Given the description of an element on the screen output the (x, y) to click on. 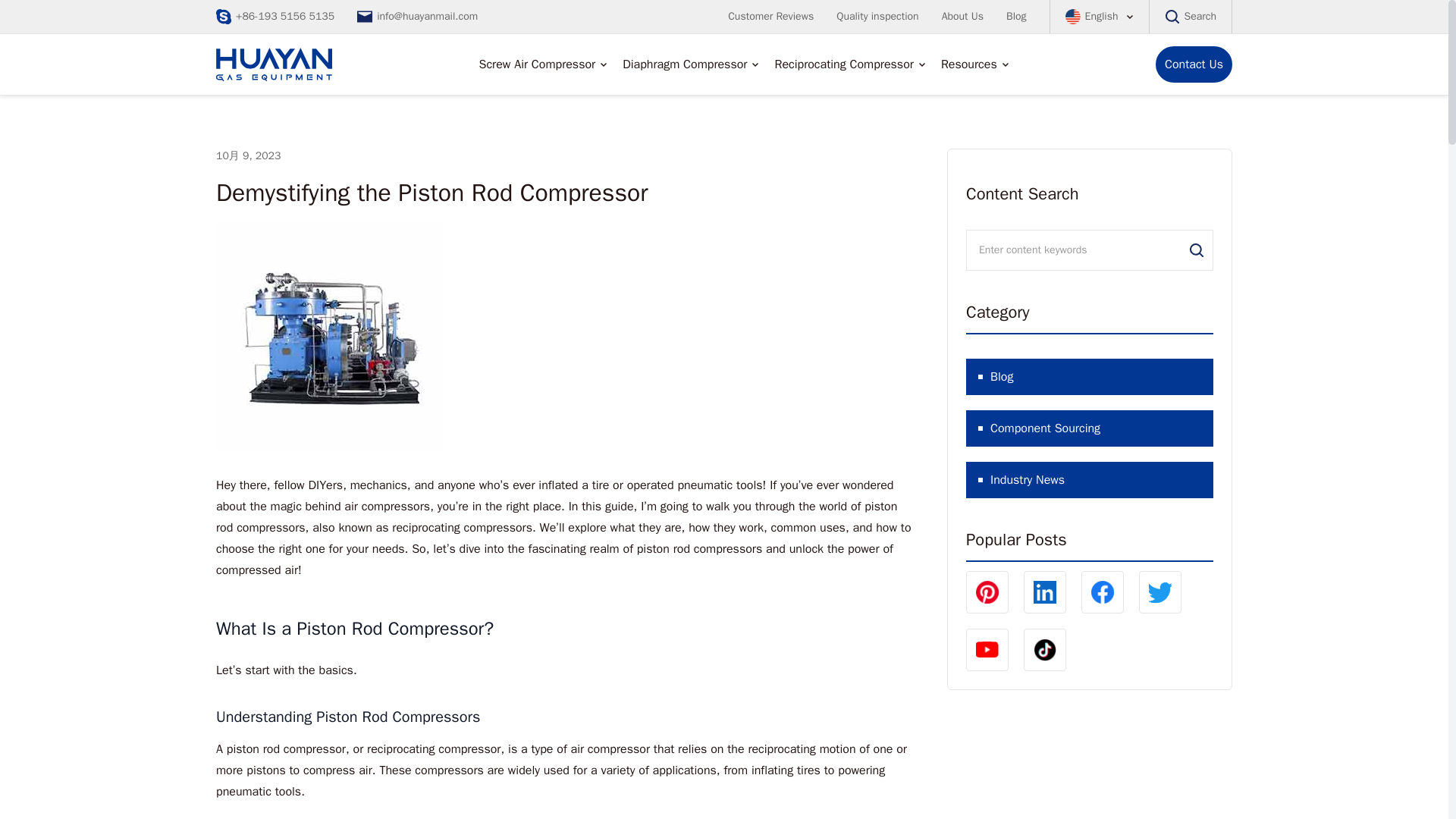
Component Sourcing (1089, 428)
Blog (1089, 376)
Reciprocating Compressor (843, 64)
Customer Reviews (770, 2)
Resources (968, 64)
Screw Air Compressor (537, 60)
Quality inspection (876, 5)
Industry News (1089, 479)
Diaphragm Compressor (684, 64)
Blog (1016, 9)
About Us (963, 6)
Contact Us (1193, 63)
